Given the description of an element on the screen output the (x, y) to click on. 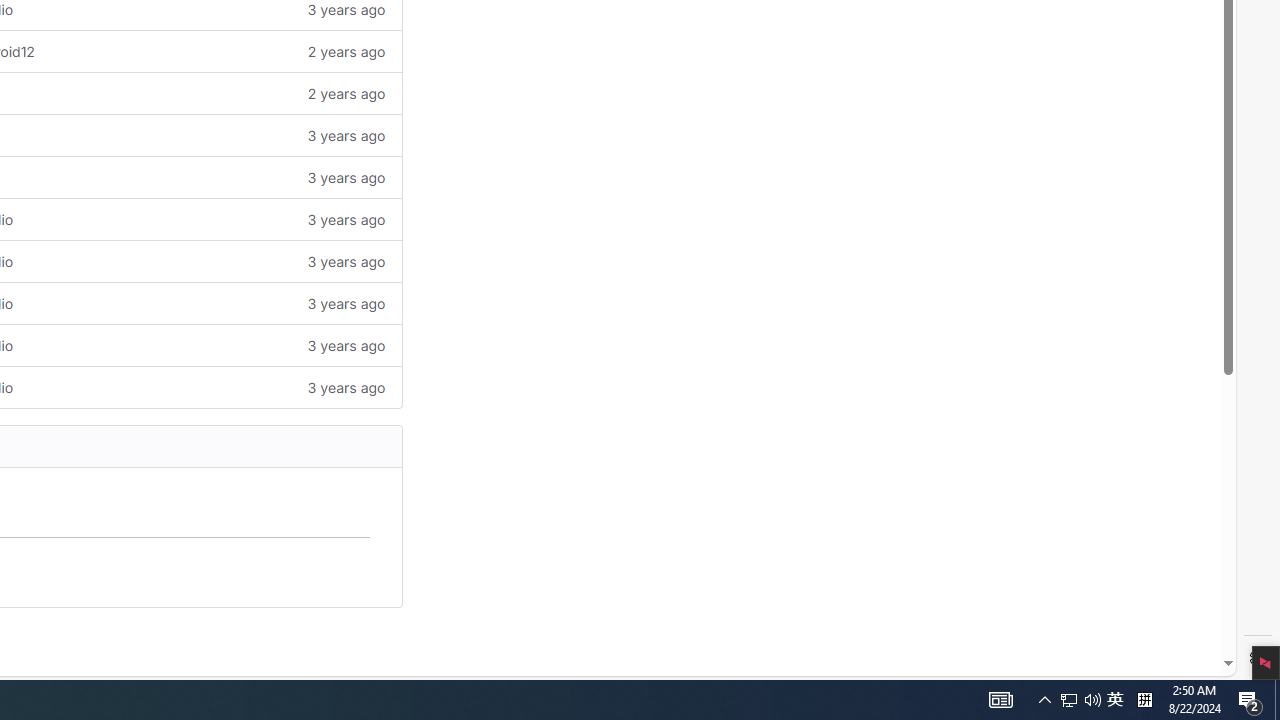
2 years ago (247, 93)
3 years ago (247, 386)
